Given the description of an element on the screen output the (x, y) to click on. 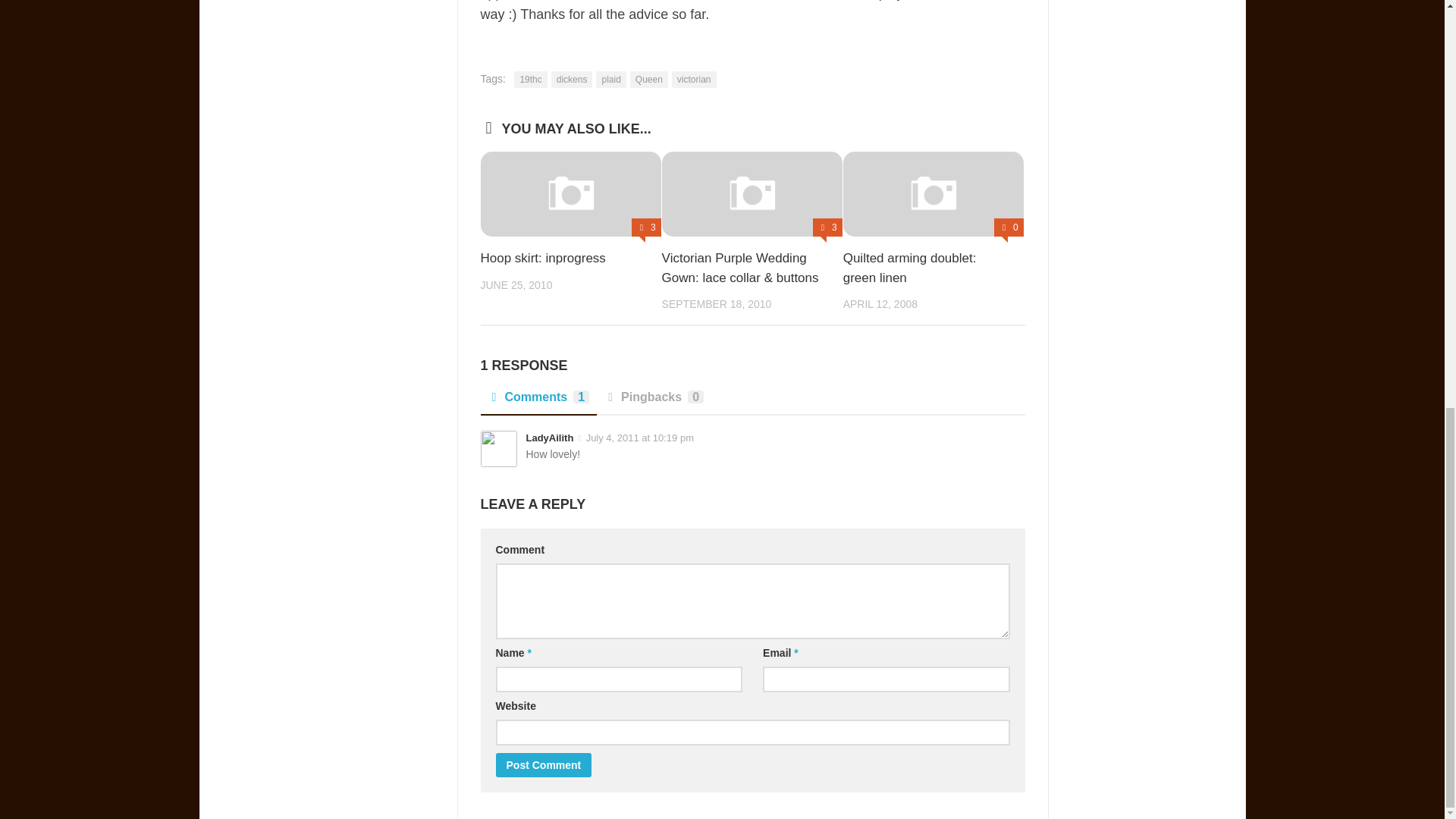
0 (1008, 227)
Post Comment (544, 764)
Comments1 (538, 401)
victorian (693, 79)
Queen (649, 79)
3 (827, 227)
Pingbacks0 (653, 401)
Post Comment (544, 764)
Hoop skirt: inprogress (542, 257)
3 (646, 227)
